Given the description of an element on the screen output the (x, y) to click on. 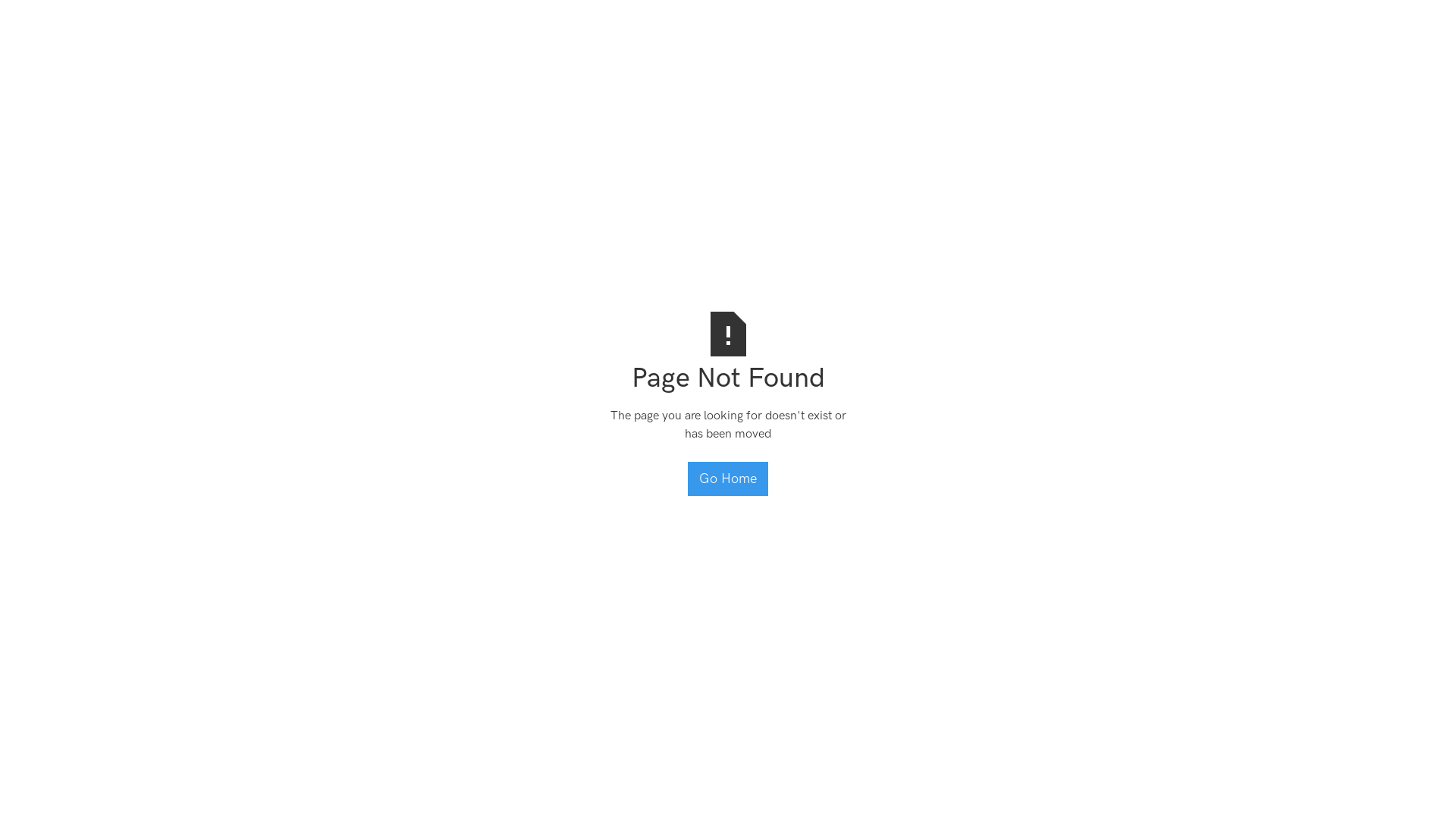
Go Home Element type: text (727, 478)
